Given the description of an element on the screen output the (x, y) to click on. 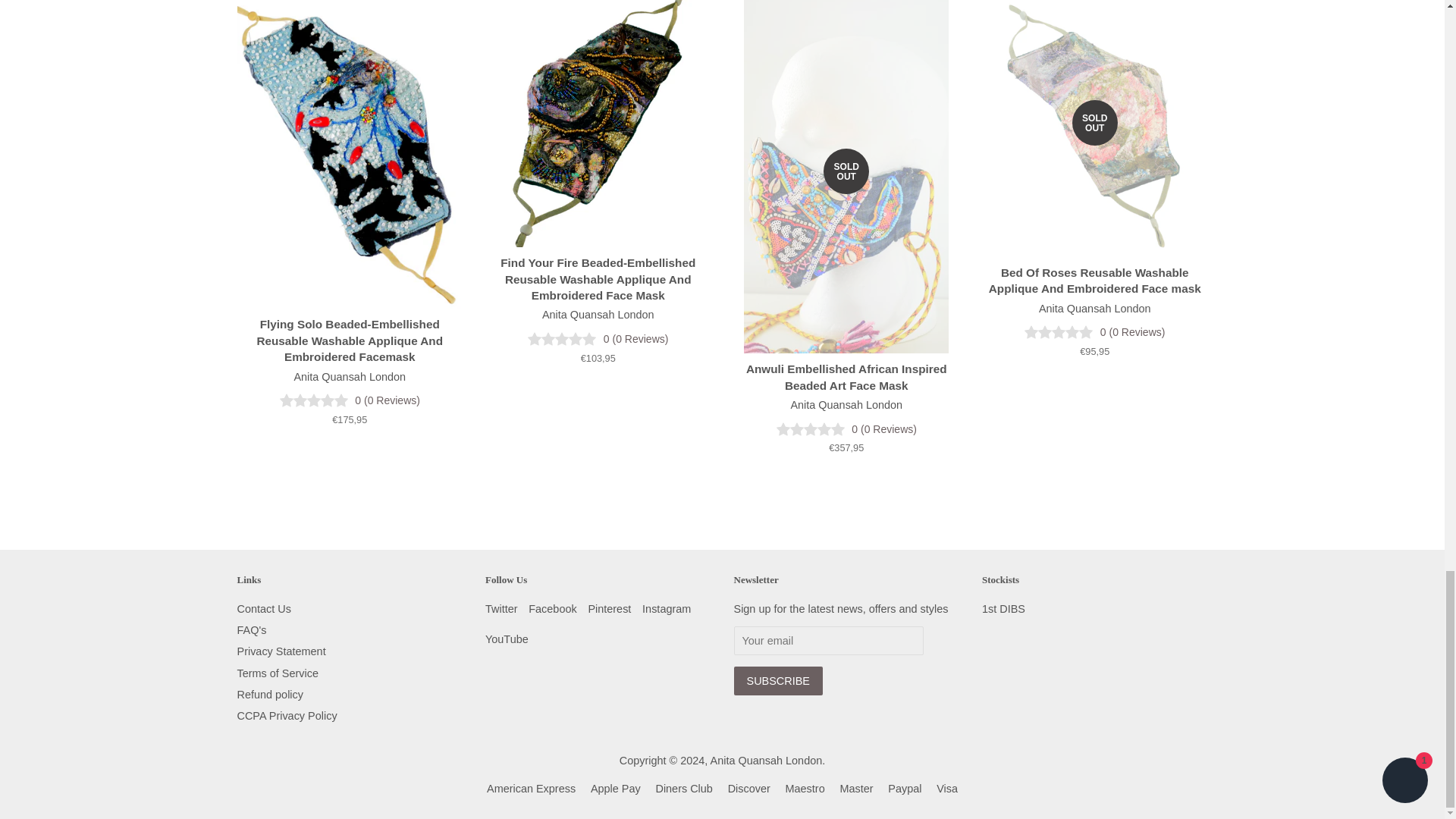
Anita Quansah London on Instagram (666, 608)
Anita Quansah London on Twitter (501, 608)
Anita Quansah London on YouTube (506, 639)
Subscribe (777, 681)
Anita Quansah London on Facebook (552, 608)
Anita Quansah London on Pinterest (609, 608)
